Given the description of an element on the screen output the (x, y) to click on. 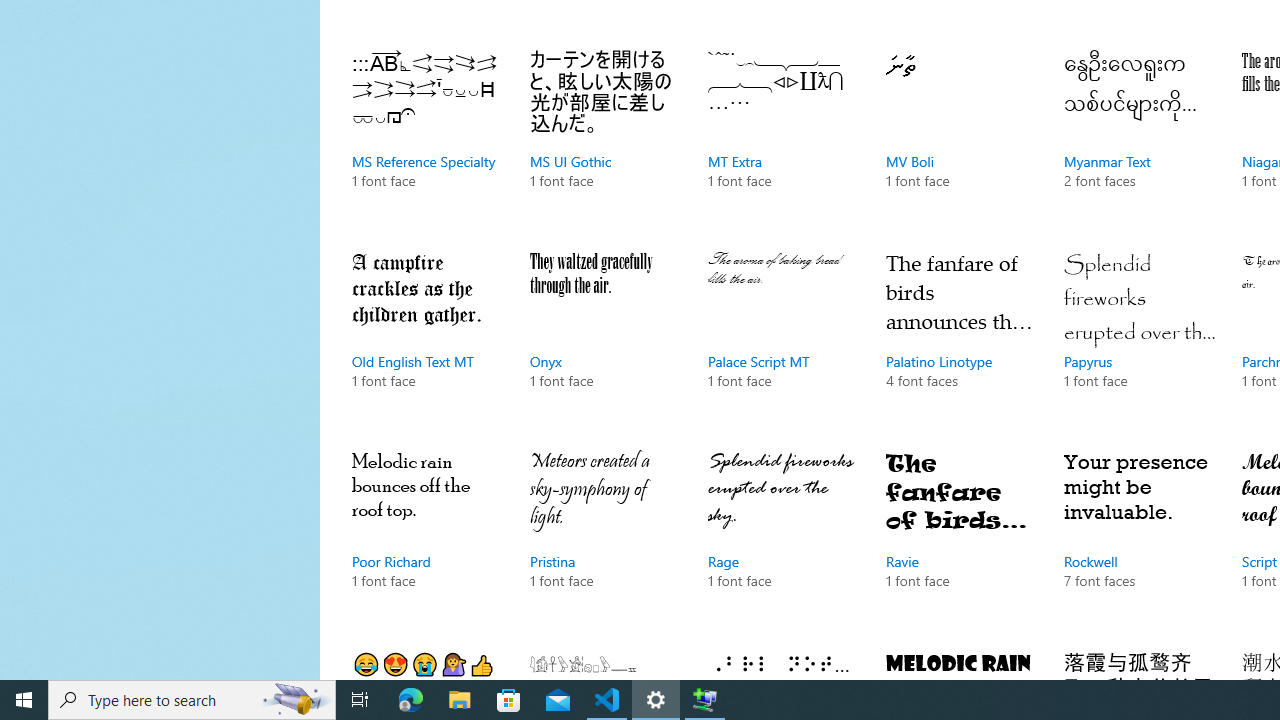
Onyx, 1 font face (604, 339)
